Given the description of an element on the screen output the (x, y) to click on. 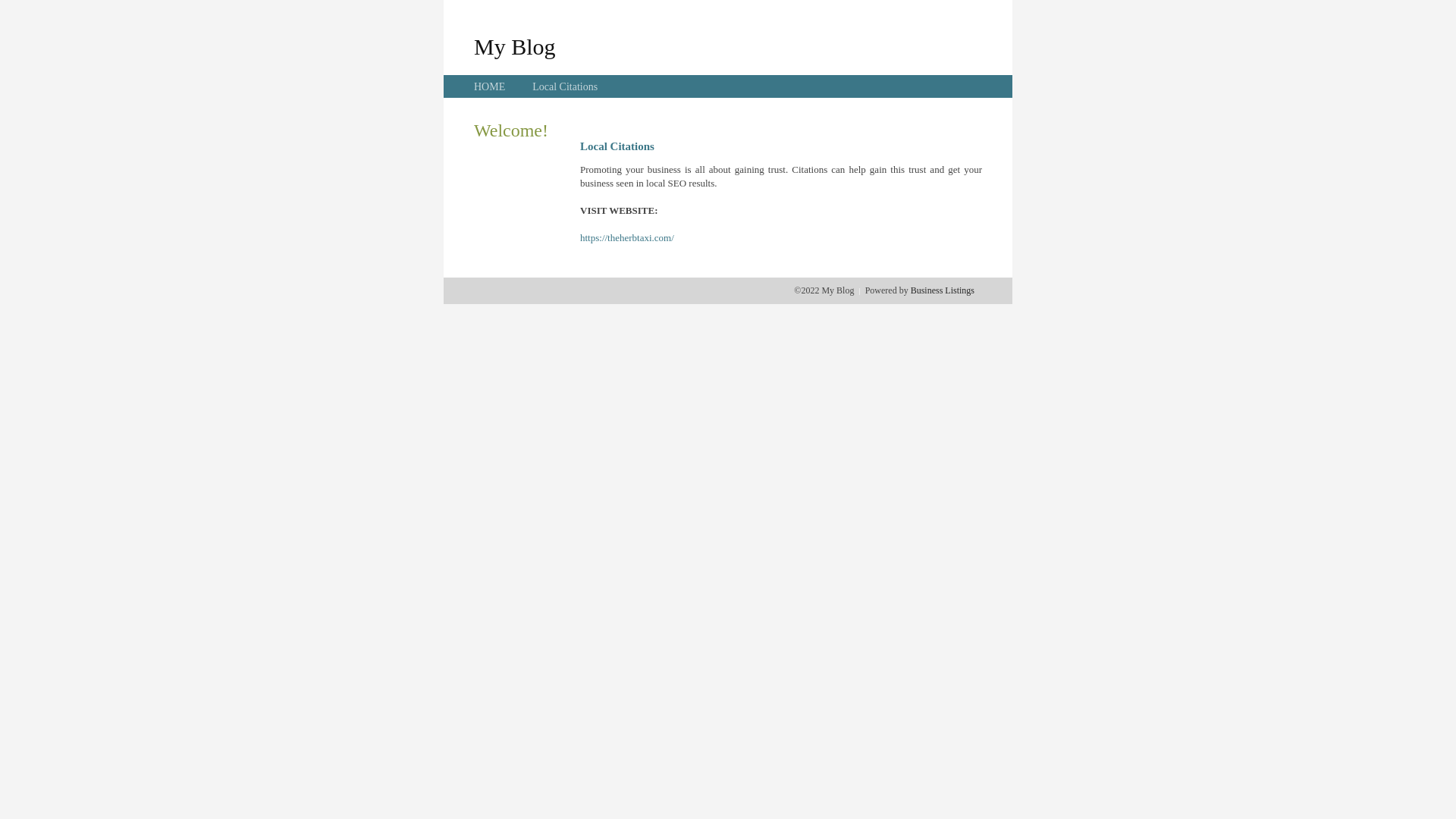
https://theherbtaxi.com/ Element type: text (627, 237)
HOME Element type: text (489, 86)
Business Listings Element type: text (942, 290)
My Blog Element type: text (514, 46)
Local Citations Element type: text (564, 86)
